Given the description of an element on the screen output the (x, y) to click on. 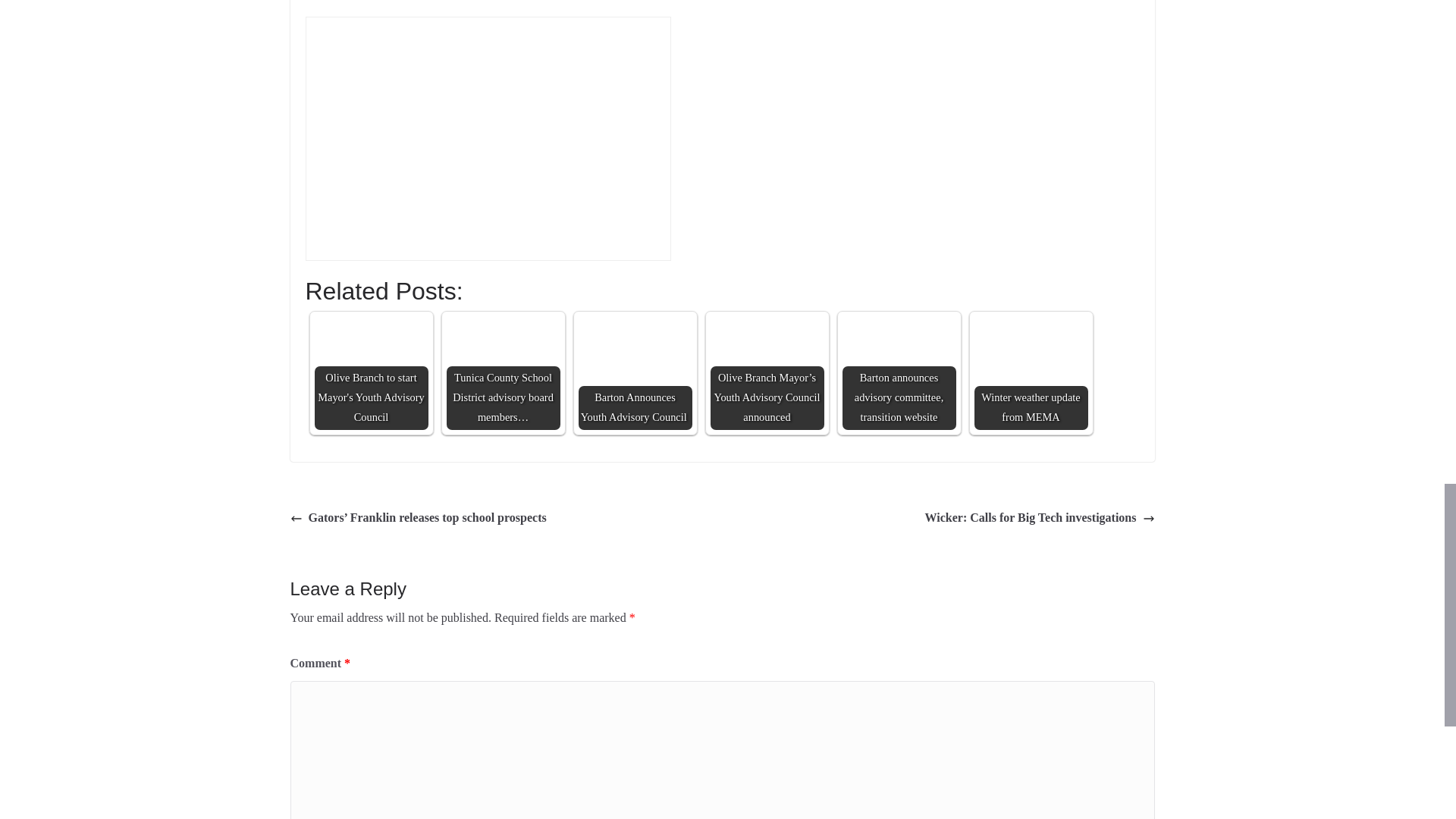
Winter weather update from MEMA (1030, 372)
Olive Branch to start Mayor's Youth Advisory Council (371, 354)
Barton announces advisory committee, transition website (898, 347)
